Given the description of an element on the screen output the (x, y) to click on. 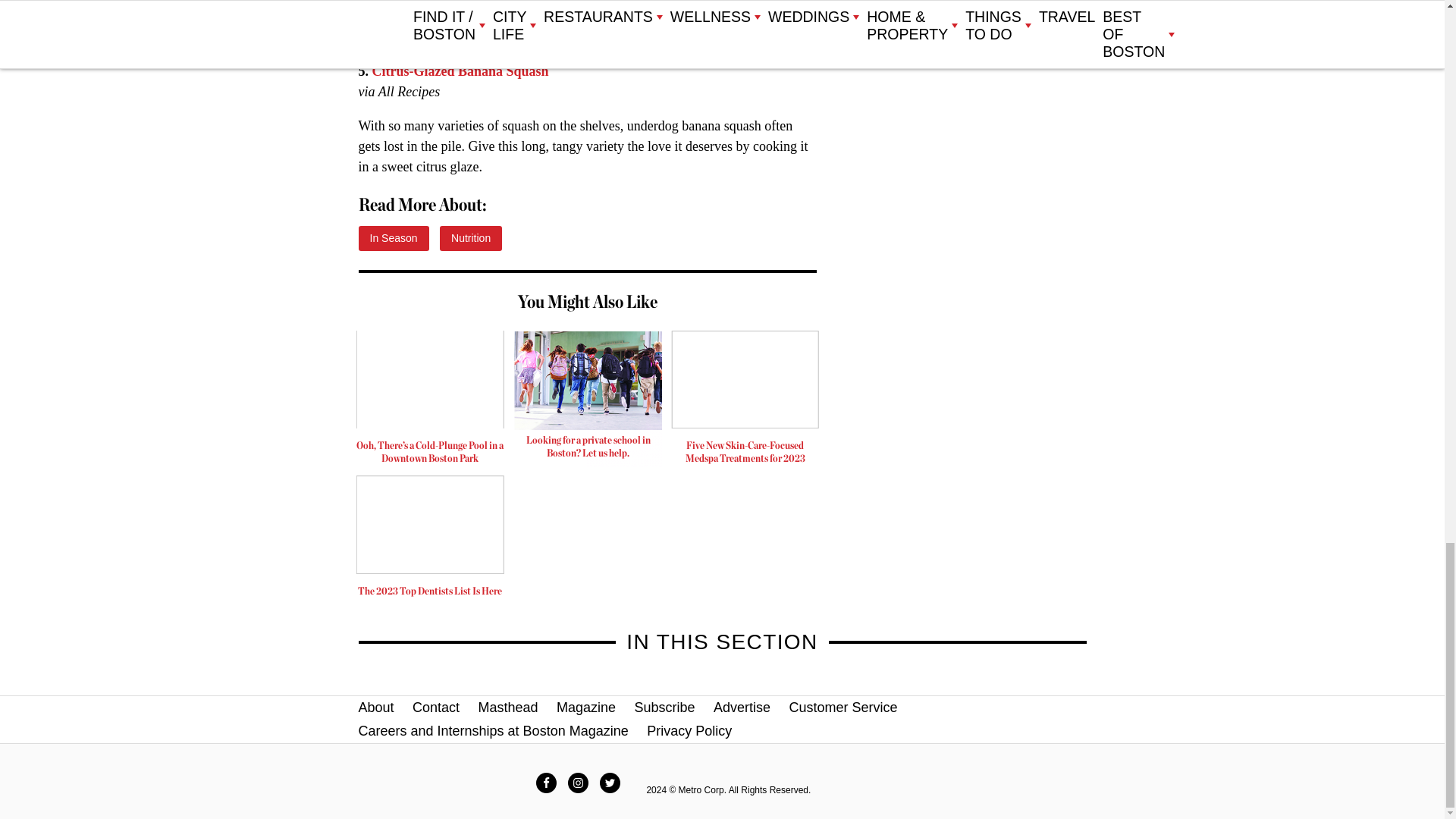
3rd party ad content (587, 398)
